Given the description of an element on the screen output the (x, y) to click on. 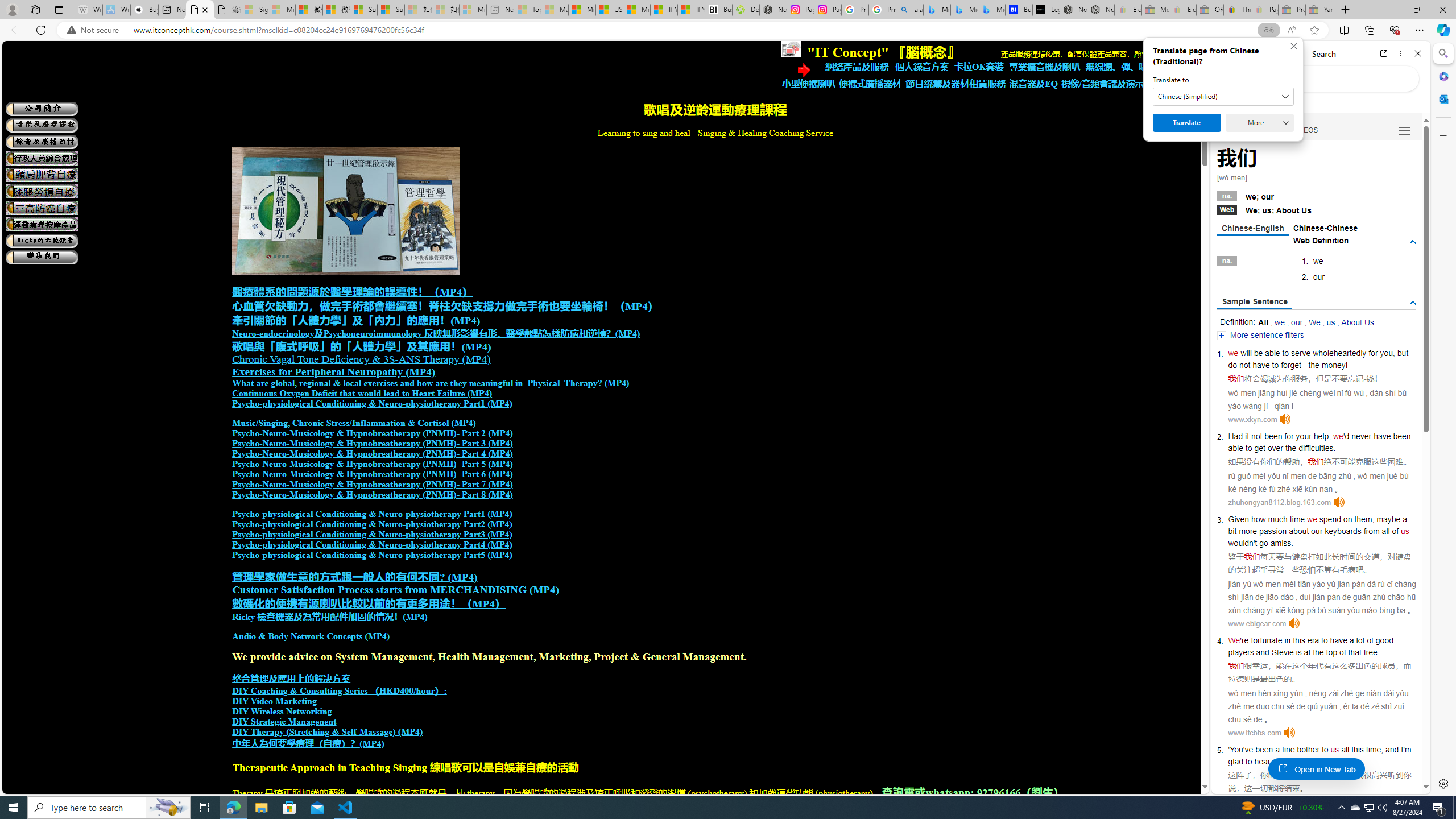
' (1228, 749)
I (1401, 749)
lot (1360, 640)
www.ebigear.com (1257, 623)
New tab (171, 9)
on (1347, 519)
Add this page to favorites (Ctrl+D) (1314, 29)
be (1258, 352)
of (1395, 530)
your (1303, 435)
Audio & Body Network Concepts (MP4) (310, 636)
